Given the description of an element on the screen output the (x, y) to click on. 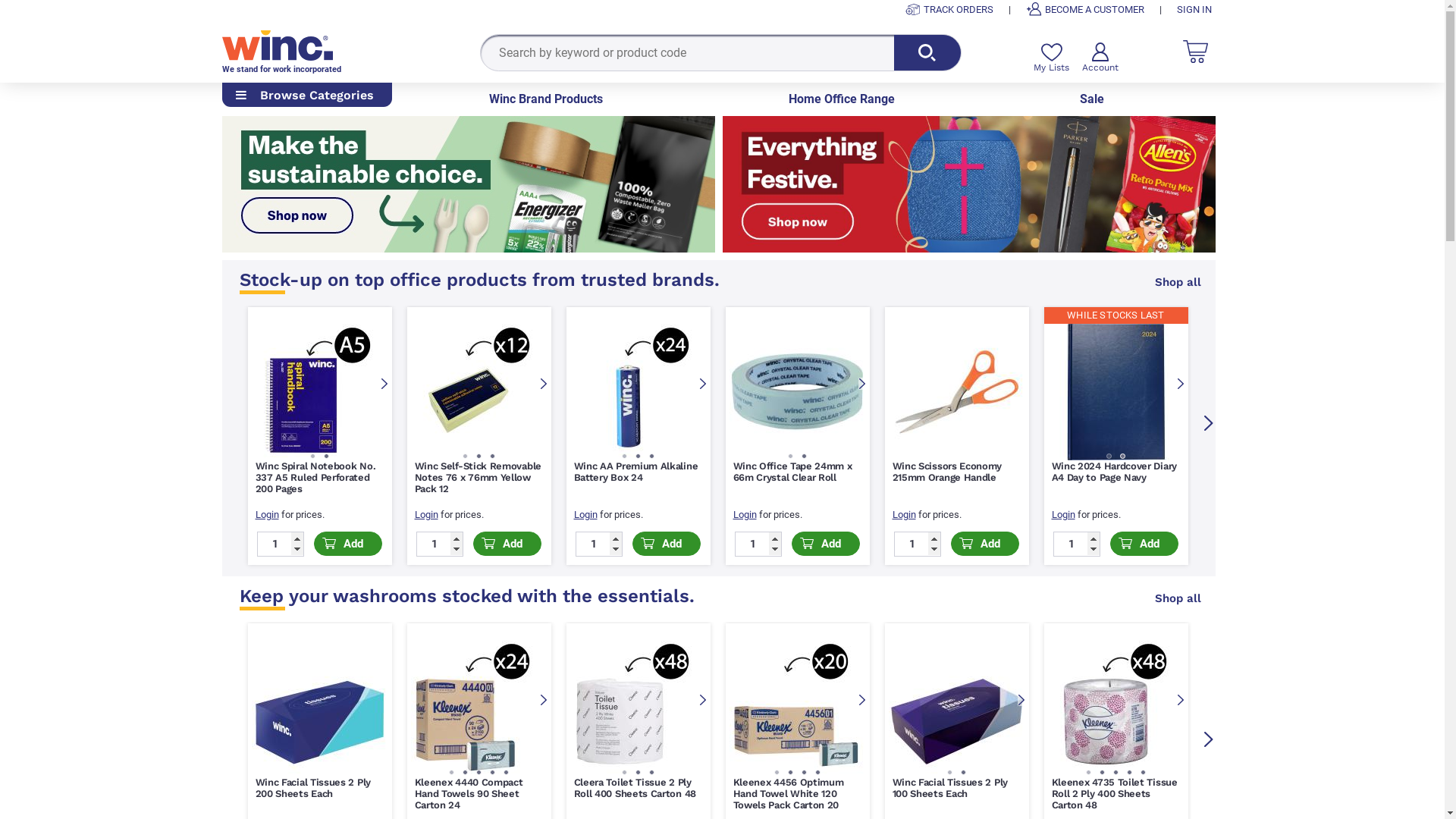
Kleenex 4735 Toilet Tissue Roll 2 Ply 400 Sheets Carton 48 Element type: text (1113, 793)
Add Element type: text (1303, 543)
Winc Facial Tissues 2 Ply 200 Sheets Each Element type: text (312, 787)
Login Element type: text (266, 514)
Winc 2024 Hardcover Diary A4 Day to Page Navy Element type: text (1113, 471)
Image 2 Element type: hover (478, 455)
Add Element type: text (825, 543)
Login Element type: text (744, 514)
Image 1 Element type: hover (1088, 772)
Image 3 Element type: hover (651, 772)
Image 1 Element type: hover (623, 772)
Shop all Element type: text (1177, 598)
Winc AA Premium Alkaline Battery Box 24 Element type: text (635, 471)
Next Element type: hover (383, 384)
Image 1 Element type: hover (451, 772)
Image 1 Element type: hover (790, 455)
Winc Office Tape 24mm x 66m Crystal Clear Roll Element type: text (791, 471)
Next Element type: hover (542, 700)
Image 4 Element type: hover (491, 772)
Next Element type: hover (861, 700)
Image 3 Element type: hover (651, 455)
Cart Element type: hover (1195, 50)
Winc Spiral Notebook No. 337 A5 Ruled Perforated 200 Pages Element type: text (314, 477)
Winc Self-Stick Removable Notes 76 x 76mm Yellow Pack 12 Element type: text (477, 477)
Image 2 Element type: hover (804, 455)
Kleenex 4440 Compact Hand Towels 90 Sheet Carton 24 Element type: text (468, 793)
Next Element type: hover (1179, 700)
Image 3 Element type: hover (1115, 772)
Add Element type: text (507, 543)
Image 4 Element type: hover (1128, 772)
SIGN IN Element type: text (1193, 9)
Home Office Range Element type: text (841, 99)
Next Element type: hover (1020, 700)
Image 1 Element type: hover (623, 455)
My Lists Element type: text (1050, 57)
Next Element type: hover (701, 384)
Image 2 Element type: hover (326, 455)
Image 2 Element type: hover (637, 455)
Cleera Toilet Tissue 2 Ply Roll 400 Sheets Carton 48 Element type: text (634, 787)
Image 1 Element type: hover (1109, 455)
Sale Element type: text (1091, 99)
Next Element type: hover (701, 700)
Add Element type: text (666, 543)
Winc Facial Tissues 2 Ply 100 Sheets Each Element type: text (949, 787)
Image 4 Element type: hover (818, 772)
Add Element type: text (1144, 543)
Winc Brand Products Element type: text (545, 99)
Add Element type: text (347, 543)
Browse Categories Element type: text (306, 95)
Image 1 Element type: hover (777, 772)
Image 5 Element type: hover (505, 772)
Login Element type: text (584, 514)
Image 1 Element type: hover (312, 455)
Image 2 Element type: hover (464, 772)
Next Element type: hover (1208, 422)
Next Element type: hover (1179, 384)
Image 3 Element type: hover (478, 772)
Image 2 Element type: hover (963, 772)
Login Element type: text (1062, 514)
Next Element type: hover (861, 384)
BECOME A CUSTOMER Element type: text (1084, 9)
TRACK ORDERS Element type: text (949, 9)
Login Element type: text (425, 514)
Add Element type: text (984, 543)
Image 2 Element type: hover (1101, 772)
Image 2 Element type: hover (1122, 455)
Next Element type: hover (542, 384)
Image 2 Element type: hover (637, 772)
Shop all Element type: text (1177, 281)
Next Element type: hover (1208, 738)
Login Element type: text (1221, 514)
Image 3 Element type: hover (491, 455)
Image 1 Element type: hover (464, 455)
Image 3 Element type: hover (804, 772)
Account Element type: text (1099, 57)
Image 2 Element type: hover (790, 772)
Image 5 Element type: hover (1142, 772)
Login Element type: text (903, 514)
Login Element type: text (1381, 514)
Image 1 Element type: hover (949, 772)
Winc Home Element type: hover (276, 44)
Winc Scissors Economy 215mm Orange Handle Element type: text (946, 471)
